Given the description of an element on the screen output the (x, y) to click on. 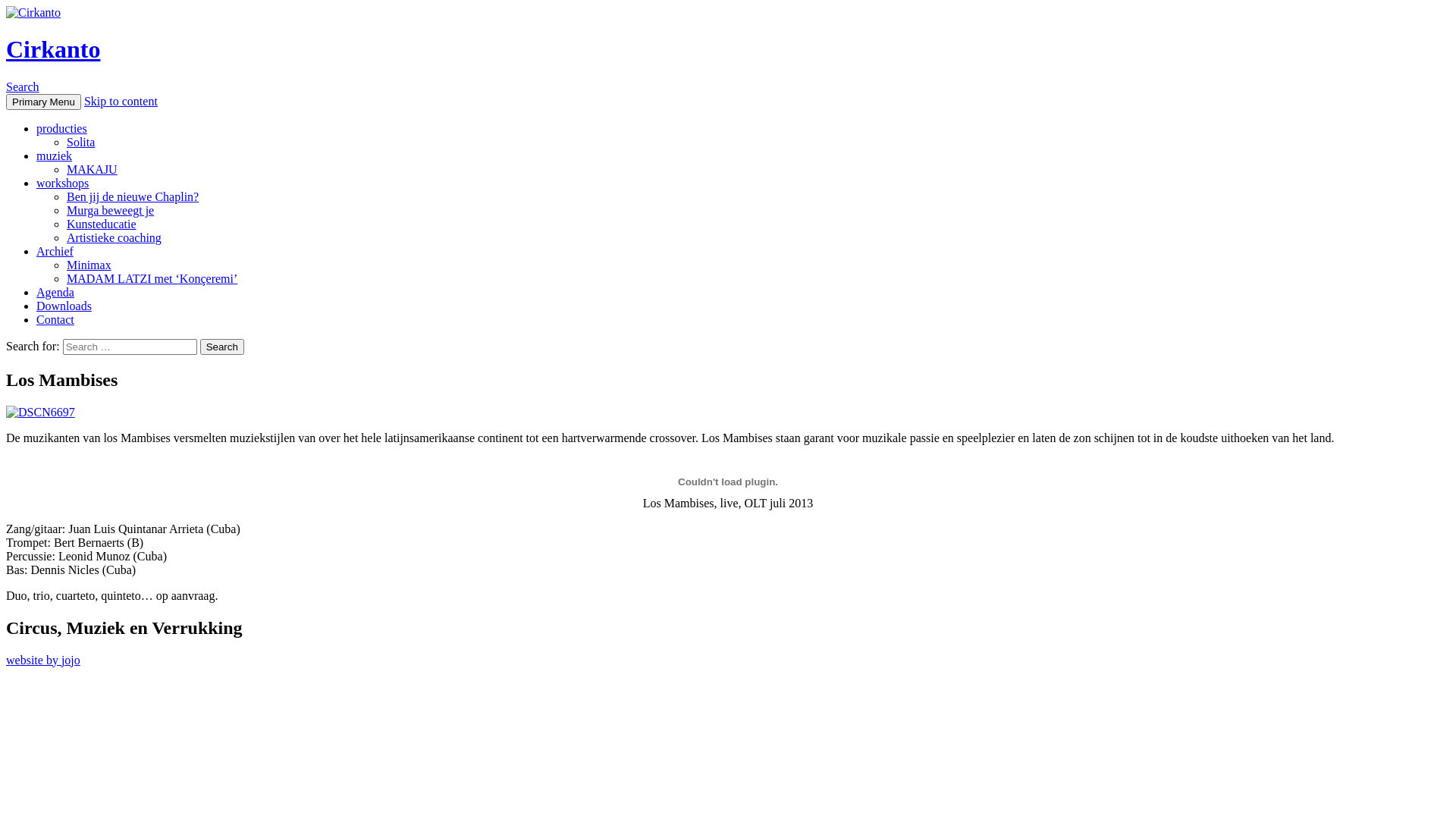
Search Element type: text (222, 346)
Primary Menu Element type: text (43, 101)
Kunsteducatie Element type: text (101, 223)
Skip to content Element type: text (120, 100)
muziek Element type: text (54, 155)
Cirkanto Element type: text (53, 48)
Search Element type: text (22, 86)
Solita Element type: text (80, 141)
producties Element type: text (61, 128)
Artistieke coaching Element type: text (113, 237)
website by jojo Element type: text (43, 659)
Ben jij de nieuwe Chaplin? Element type: text (132, 196)
Agenda Element type: text (55, 291)
MAKAJU Element type: text (91, 169)
Murga beweegt je Element type: text (109, 209)
Archief Element type: text (54, 250)
workshops Element type: text (62, 182)
Minimax Element type: text (88, 264)
Contact Element type: text (55, 319)
Downloads Element type: text (63, 305)
